Given the description of an element on the screen output the (x, y) to click on. 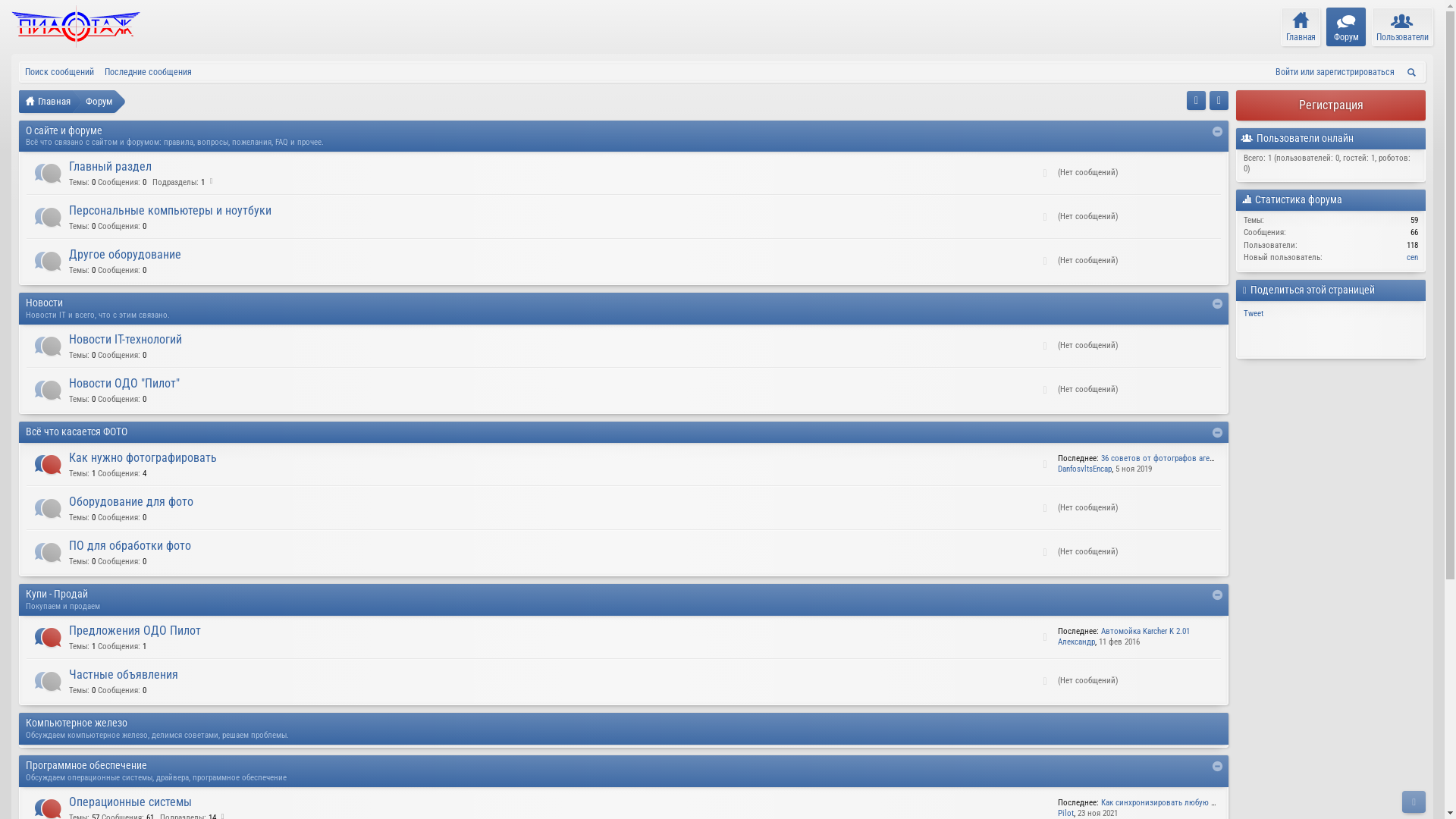
RSS Element type: text (1044, 637)
Pilot Element type: text (1065, 813)
RSS Element type: text (1044, 261)
Tweet Element type: text (1253, 313)
RSS Element type: text (1044, 552)
RSS Element type: text (1044, 173)
DanfosvltsEncap Element type: text (1084, 468)
RSS Element type: text (1044, 390)
RSS Element type: text (1044, 217)
RSS Element type: text (1044, 508)
RSS Element type: text (1044, 464)
cen Element type: text (1412, 257)
RSS Element type: text (1044, 346)
RSS Element type: text (1044, 681)
